Given the description of an element on the screen output the (x, y) to click on. 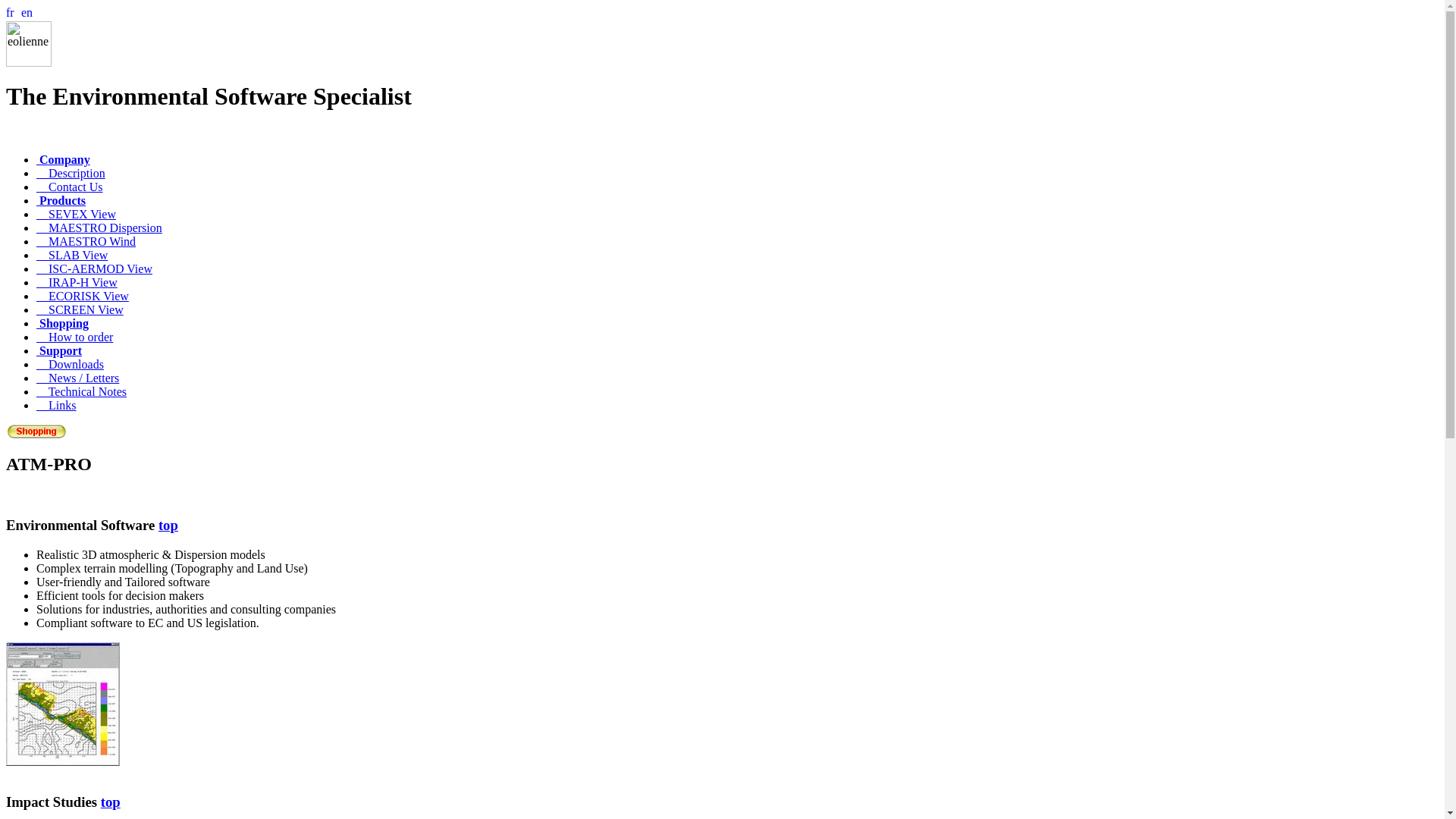
top Element type: text (168, 525)
    ECORISK View Element type: text (82, 295)
    ISC-AERMOD View Element type: text (94, 268)
    MAESTRO Dispersion Element type: text (99, 227)
    SLAB View Element type: text (71, 254)
    Contact Us Element type: text (69, 186)
    Description Element type: text (70, 172)
 Shopping Element type: text (62, 322)
    MAESTRO Wind Element type: text (85, 241)
 Products Element type: text (60, 200)
    IRAP-H View Element type: text (76, 282)
fr Element type: hover (12, 13)
    SEVEX View Element type: text (76, 213)
top Element type: text (110, 801)
en Element type: hover (27, 13)
 Support Element type: text (58, 350)
    SCREEN View Element type: text (79, 309)
 Company Element type: text (63, 159)
    How to order Element type: text (74, 336)
    News / Letters Element type: text (77, 377)
    Technical Notes Element type: text (81, 391)
    Links Element type: text (55, 404)
    Downloads Element type: text (69, 363)
